Given the description of an element on the screen output the (x, y) to click on. 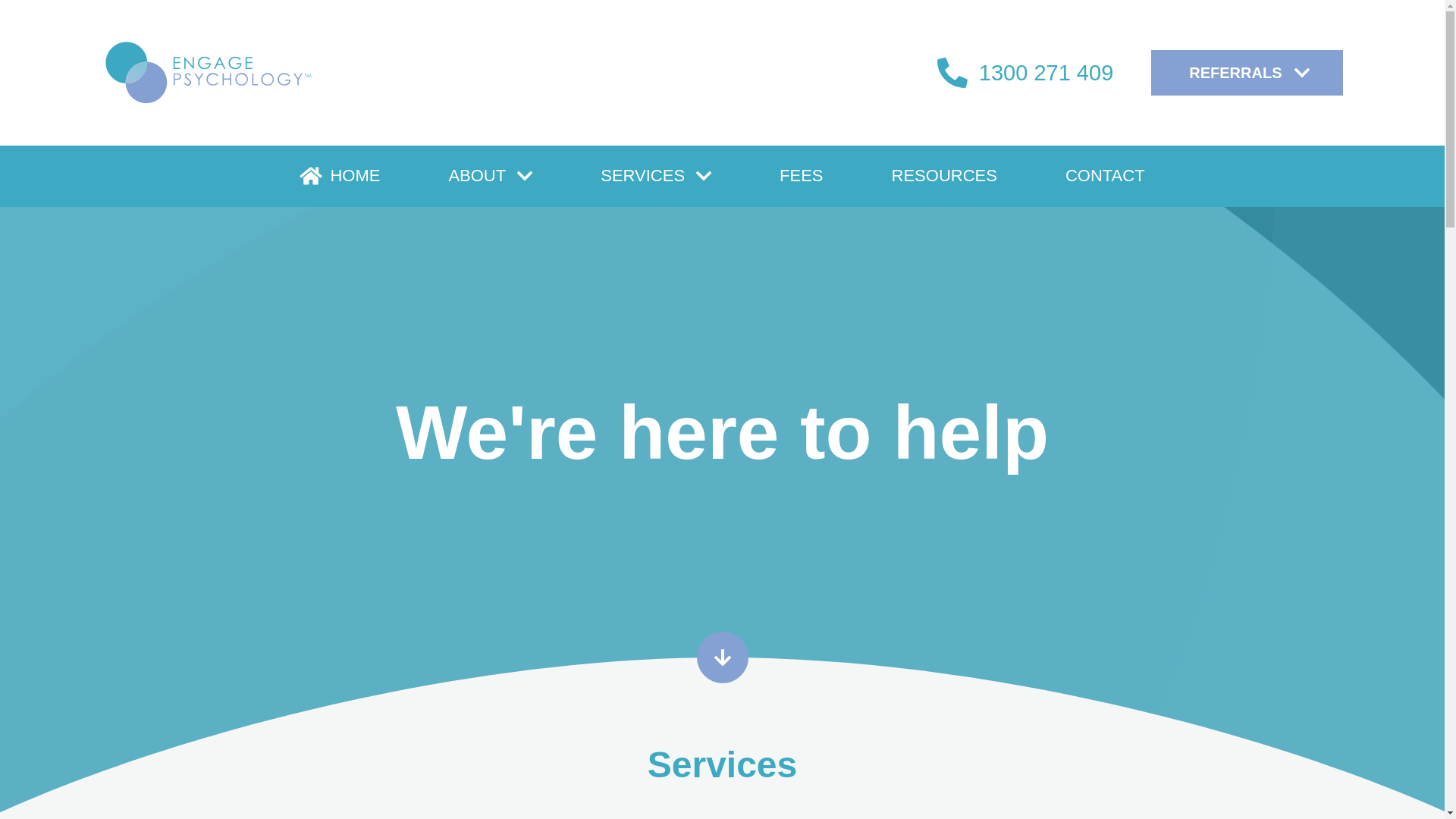
1300 271 409 Element type: text (1025, 72)
HOME Element type: text (339, 176)
REFERRALS Element type: text (1246, 72)
ABOUT Element type: text (490, 176)
SERVICES Element type: text (655, 176)
CONTACT Element type: text (1105, 176)
FEES Element type: text (800, 176)
RESOURCES Element type: text (944, 176)
